Given the description of an element on the screen output the (x, y) to click on. 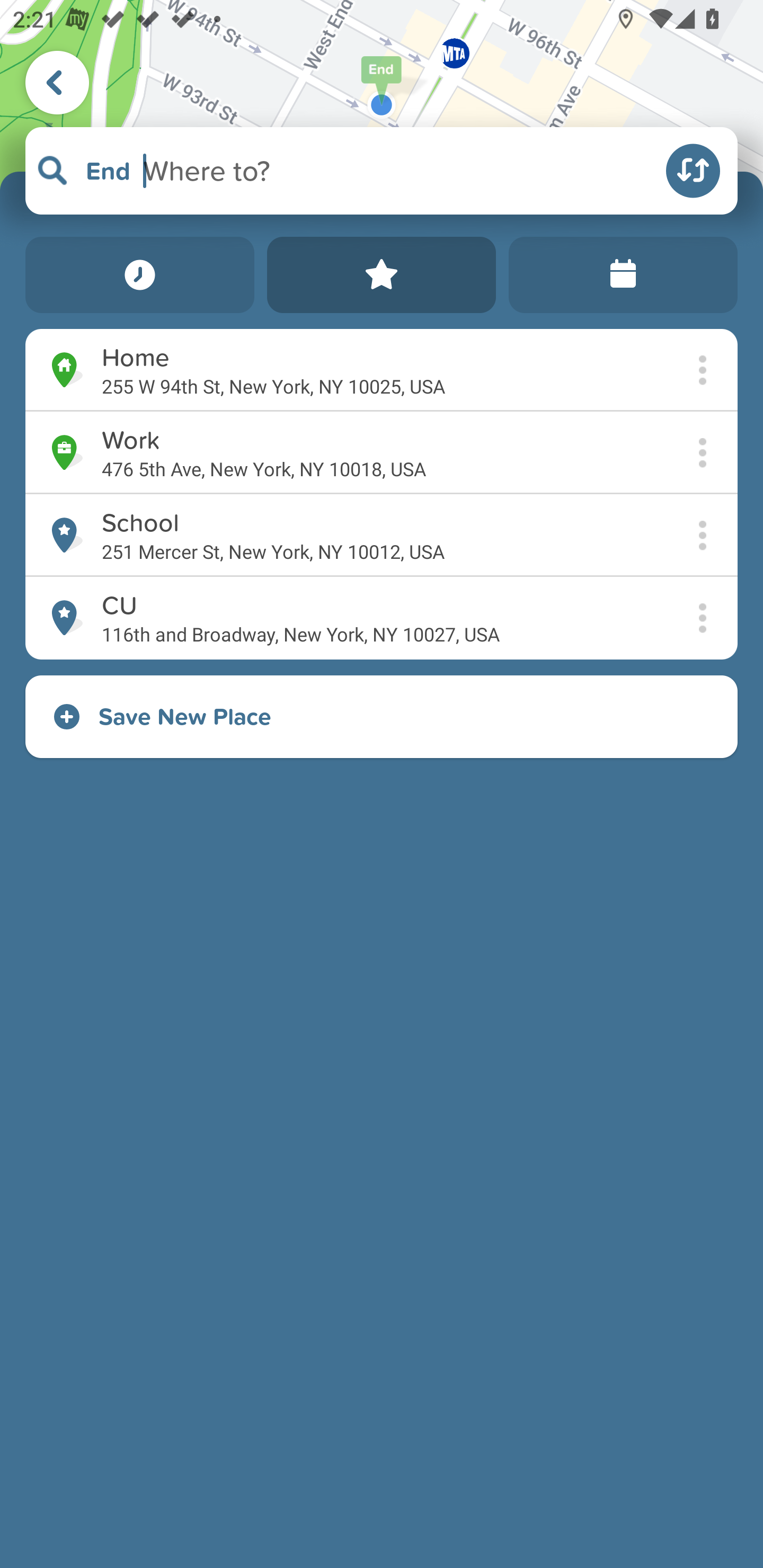
School 251 Mercer St, New York, NY 10012, USA (381, 535)
